Given the description of an element on the screen output the (x, y) to click on. 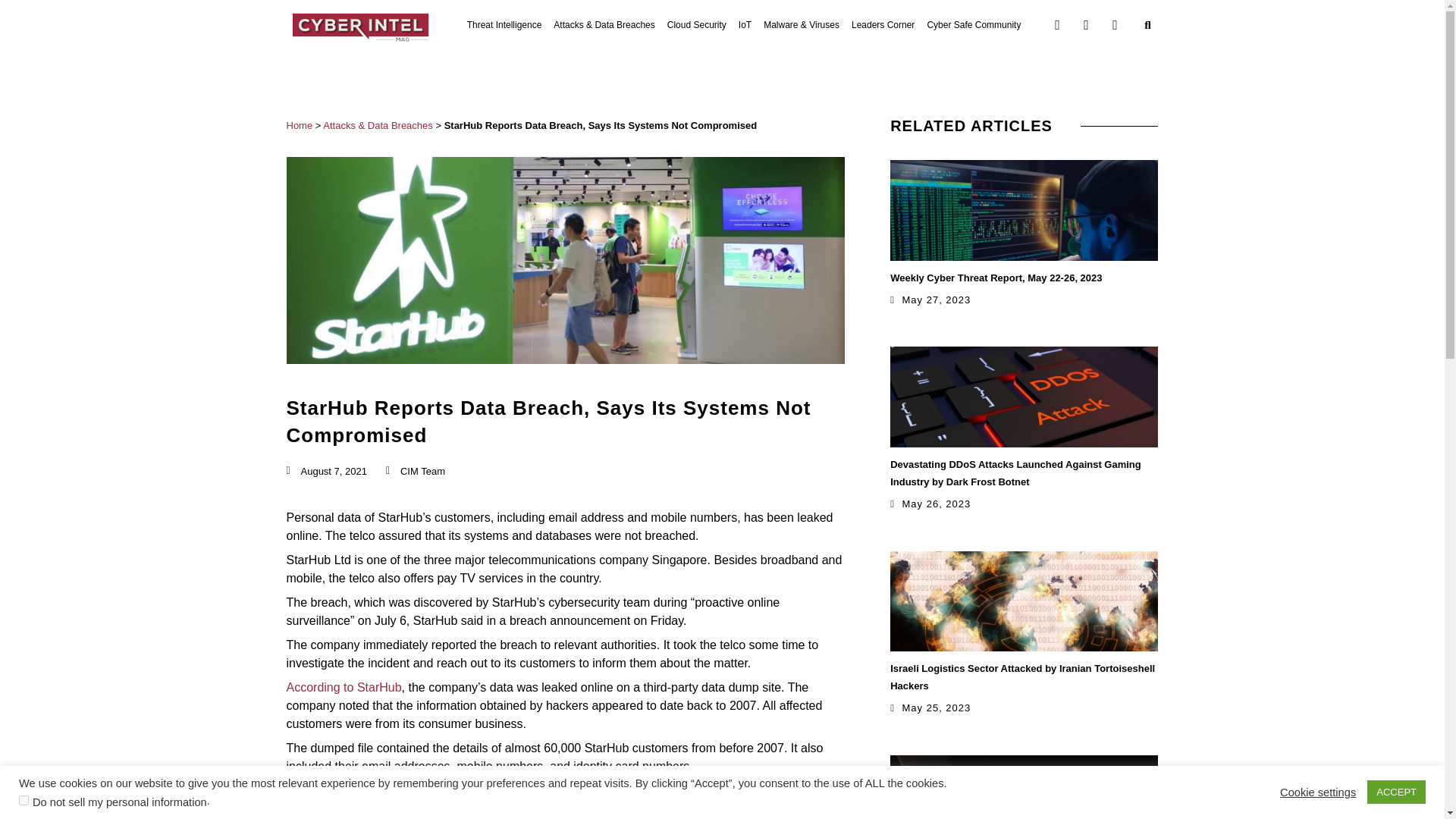
Leaders Corner (882, 24)
IoT (744, 24)
Weekly Cyber Threat Report, May 22-26, 2023 (995, 276)
According to StarHub (343, 686)
Threat Intelligence (504, 24)
on (23, 800)
Cloud Security (696, 24)
CIM Team (415, 471)
Home (299, 125)
Cyber Safe Community (973, 24)
